Given the description of an element on the screen output the (x, y) to click on. 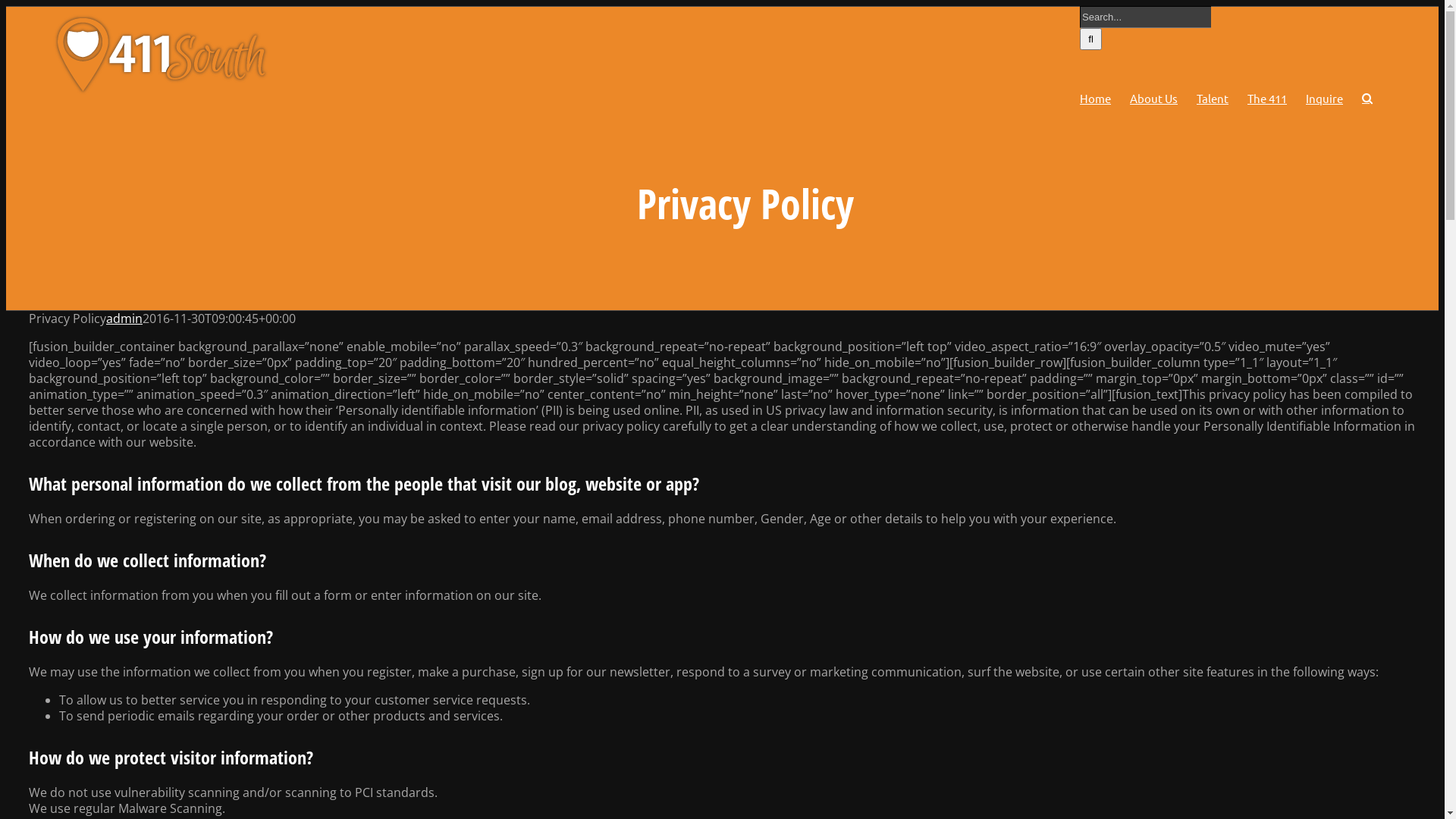
admin Element type: text (124, 318)
The 411 Element type: text (1266, 98)
About Us Element type: text (1153, 98)
Skip to content Element type: text (5, 5)
Talent Element type: text (1212, 98)
Inquire Element type: text (1324, 98)
Home Element type: text (1094, 98)
Search Element type: hover (1366, 98)
